Given the description of an element on the screen output the (x, y) to click on. 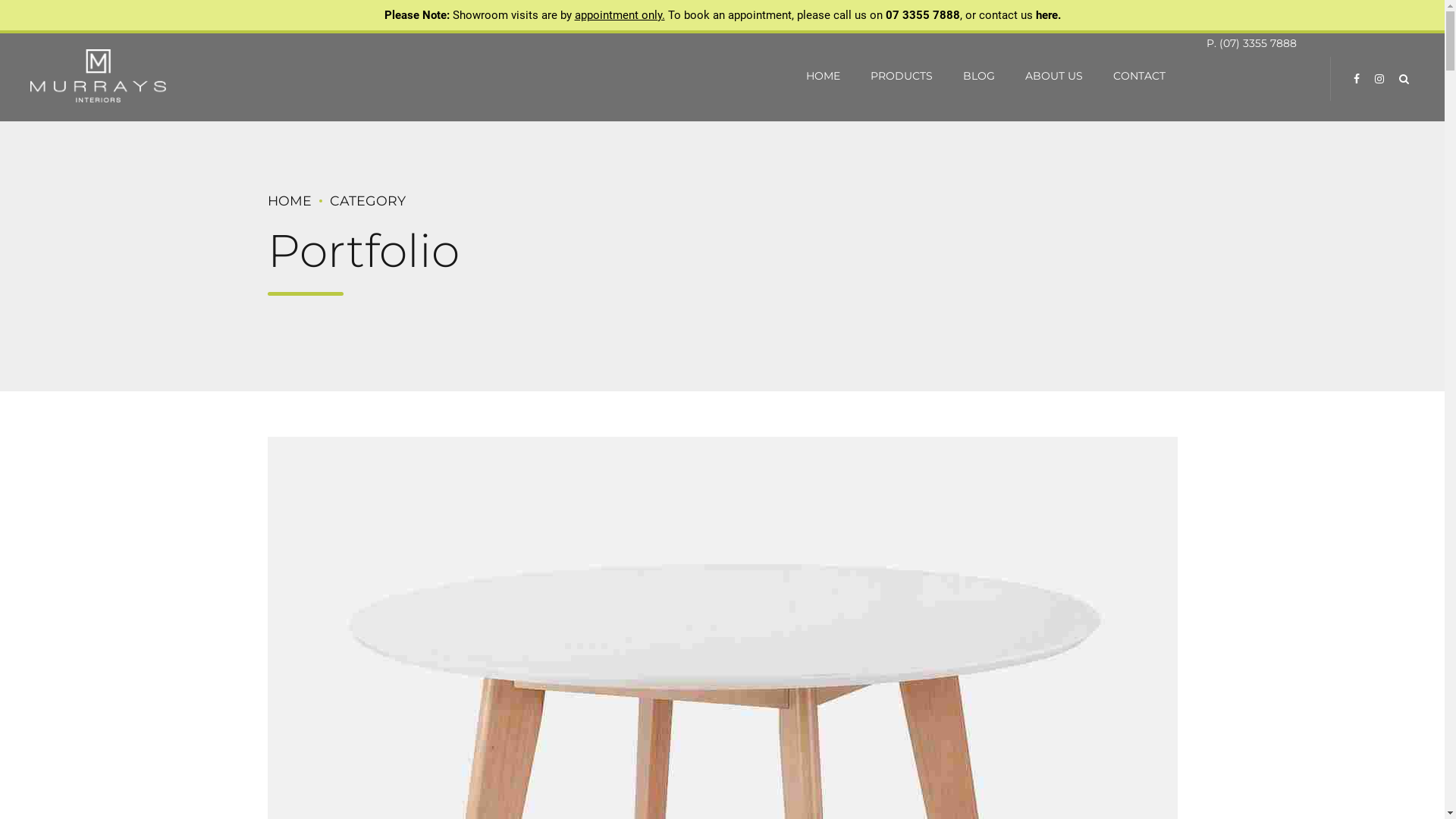
CONTACT Element type: text (1139, 75)
here. Element type: text (1047, 14)
BLOG Element type: text (978, 75)
P. (07) 3355 7888 Element type: text (1251, 43)
Search Element type: hover (1403, 78)
07 3355 7888 Element type: text (922, 14)
ABOUT US Element type: text (1053, 75)
HOME Element type: text (823, 75)
PRODUCTS Element type: text (901, 75)
HOME Element type: text (288, 200)
